Given the description of an element on the screen output the (x, y) to click on. 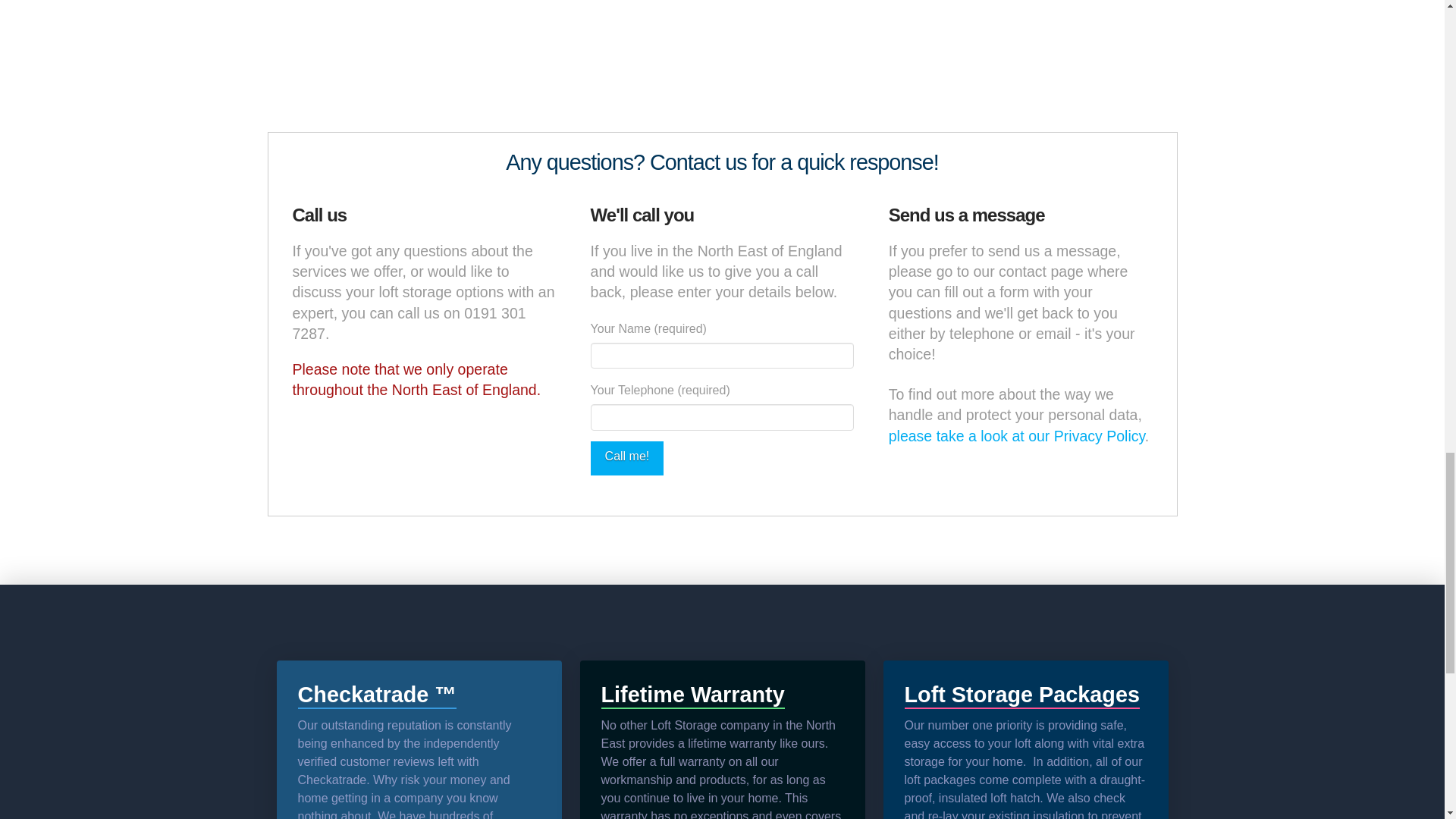
Call me! (627, 458)
please take a look at our Privacy Policy (1016, 435)
Call me! (627, 458)
